Given the description of an element on the screen output the (x, y) to click on. 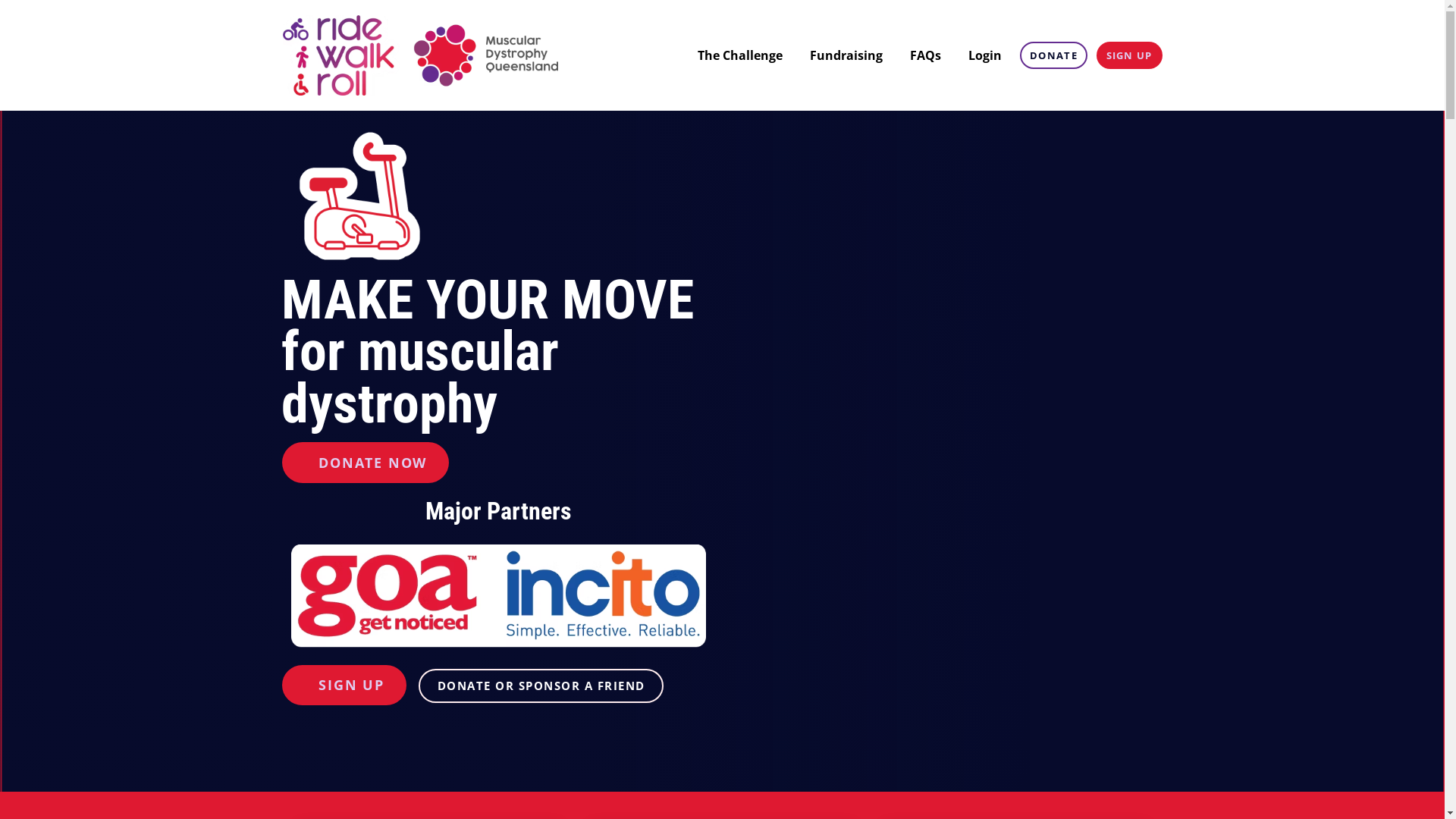
Fundraising Element type: text (845, 55)
Login Element type: text (984, 55)
DONATE OR SPONSOR A FRIEND Element type: text (540, 685)
DONATE Element type: text (1052, 55)
SIGN UP Element type: text (1129, 55)
The Challenge Element type: text (739, 55)
FAQs Element type: text (925, 55)
